Given the description of an element on the screen output the (x, y) to click on. 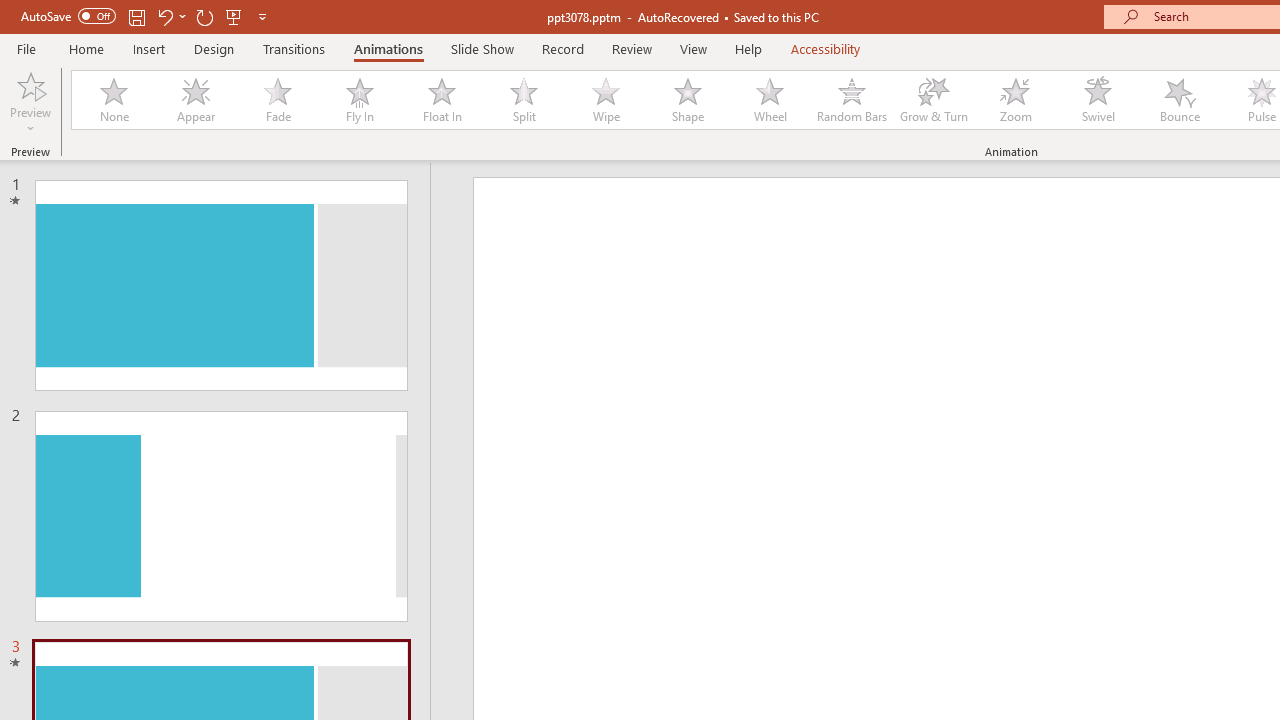
Swivel (1098, 100)
Wheel (770, 100)
Random Bars (852, 100)
Fly In (359, 100)
